Given the description of an element on the screen output the (x, y) to click on. 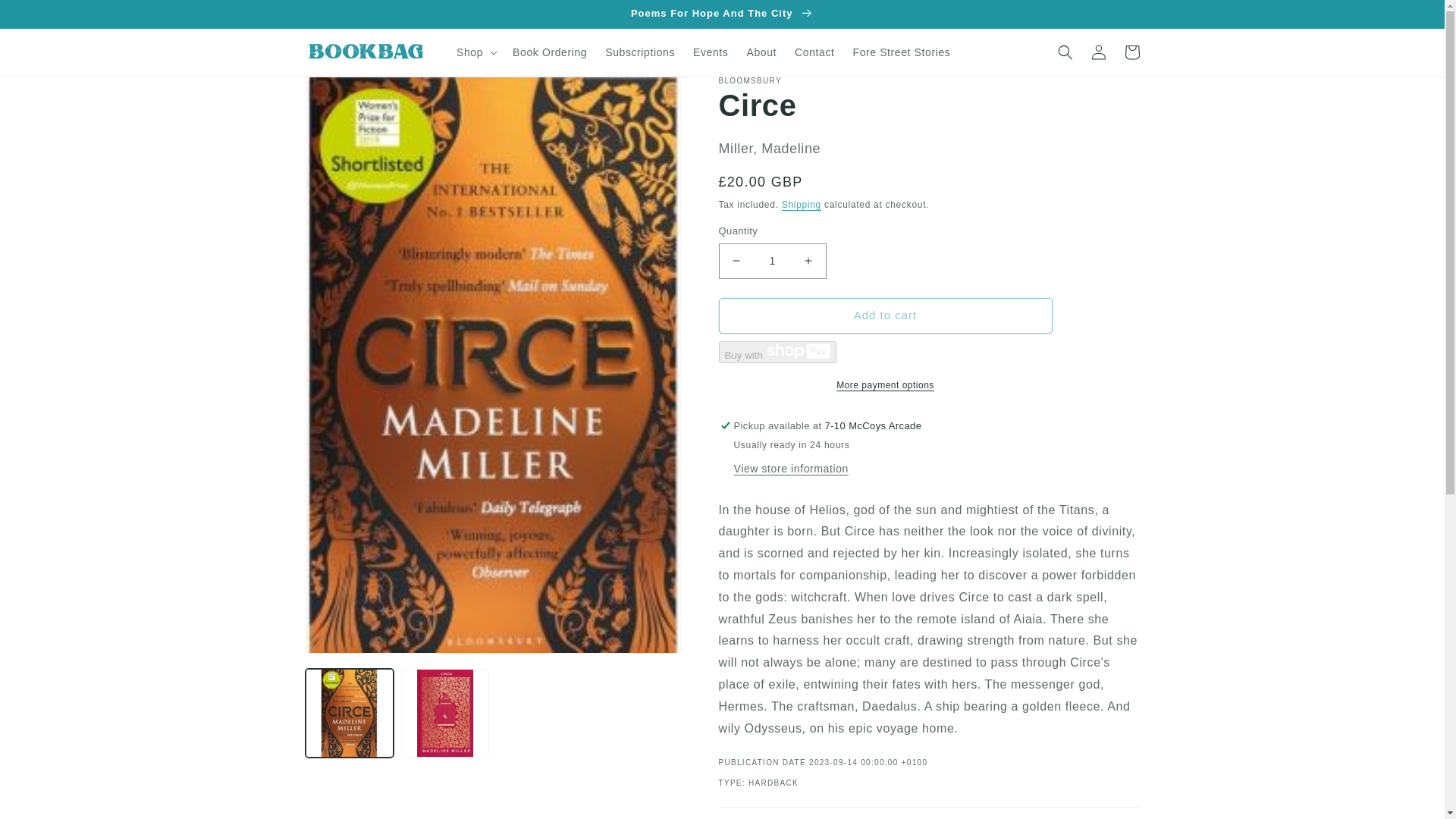
Skip to content (45, 17)
Skip to product information (350, 93)
Book Ordering (549, 51)
Subscriptions (639, 51)
Log in (1098, 52)
Contact (814, 51)
Events (710, 51)
About (761, 51)
Fore Street Stories (901, 51)
Cart (1131, 52)
